Given the description of an element on the screen output the (x, y) to click on. 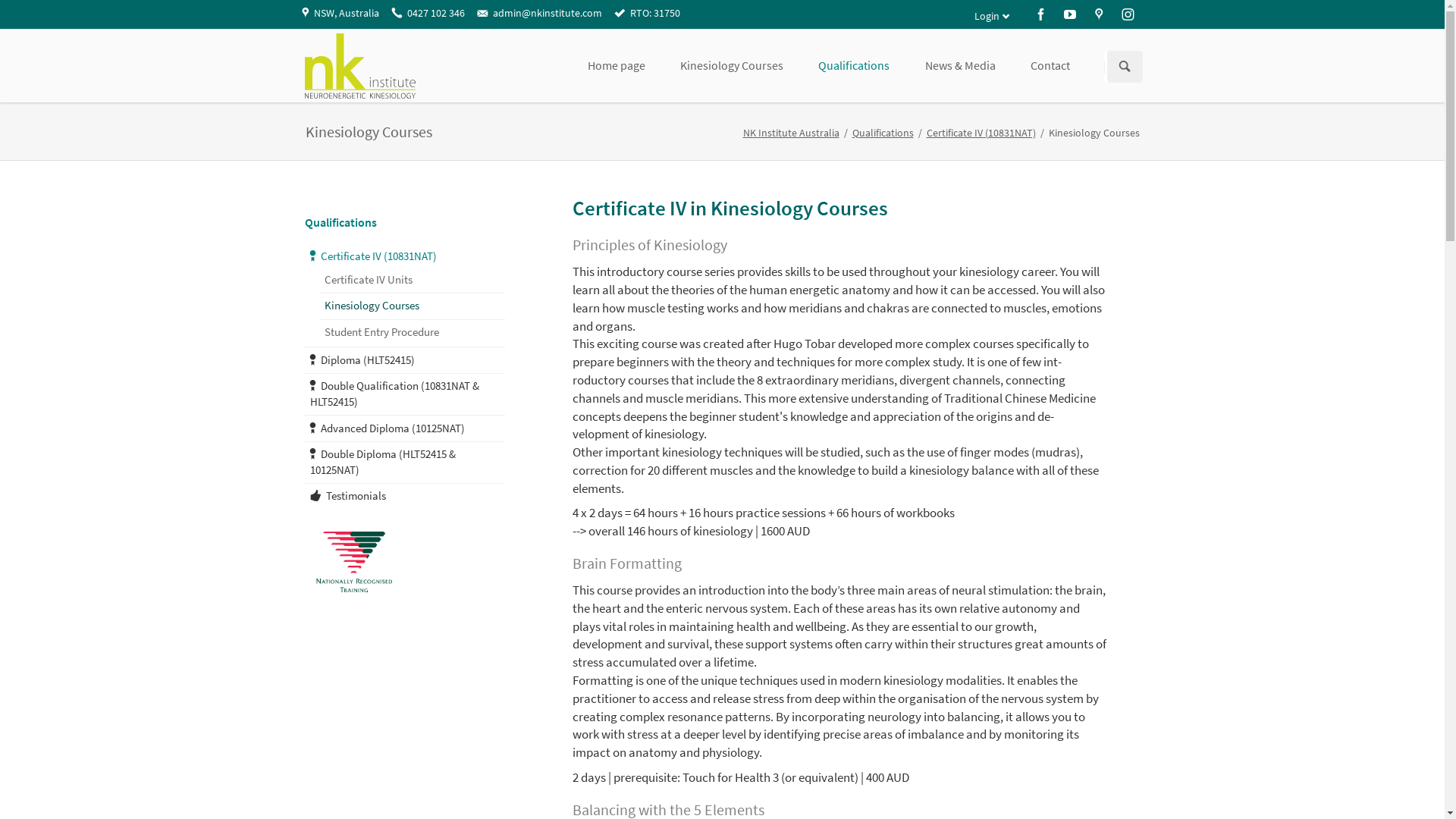
Kinesiology Courses Element type: text (731, 65)
Student Entry Procedure Element type: text (412, 332)
Contact Element type: text (1050, 65)
RTO: 31750 Element type: text (647, 13)
admin@nkinstitute.com Element type: text (538, 13)
Skip navigation Element type: text (1086, 28)
Home page Element type: text (616, 65)
NSW, Australia Element type: text (339, 13)
Advanced Diploma (10125NAT) Element type: text (405, 428)
Skip navigation Element type: text (304, 212)
Double Diploma (HLT52415 & 10125NAT) Element type: text (405, 462)
Qualifications Element type: text (882, 132)
Qualifications Element type: text (853, 65)
Qualifications Element type: text (340, 221)
0427 102 346 Element type: text (427, 13)
Diploma (HLT52415) Element type: text (405, 359)
Testimonials Element type: text (405, 496)
NK Institute Australia Element type: text (791, 132)
Double Qualification (10831NAT & HLT52415) Element type: text (405, 394)
Certificate IV Units Element type: text (412, 280)
Certificate IV (10831NAT) Element type: text (405, 255)
Certificate IV (10831NAT) Element type: text (980, 132)
News & Media Element type: text (959, 65)
